Given the description of an element on the screen output the (x, y) to click on. 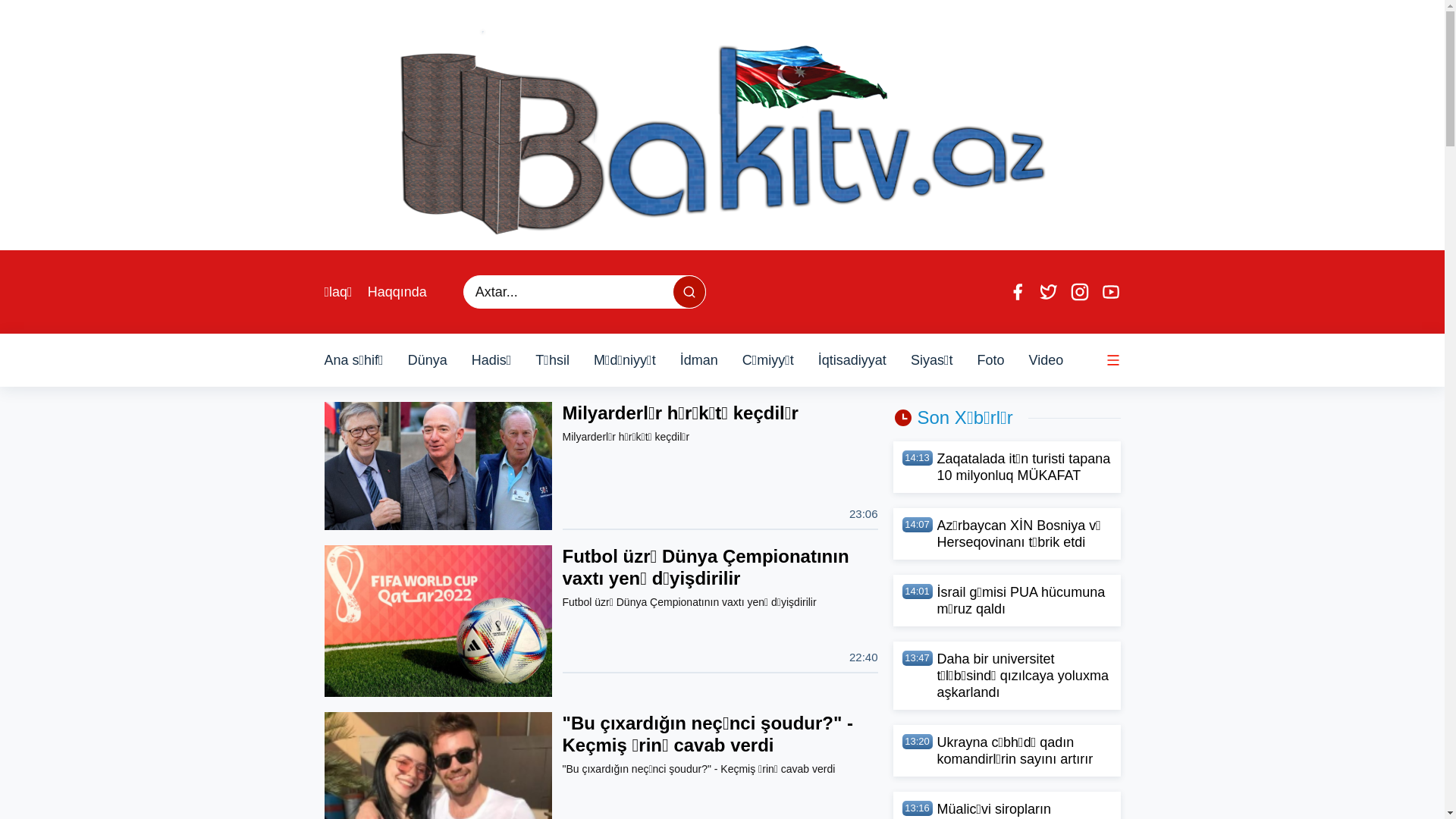
Foto Element type: text (990, 359)
Youtube Element type: hover (1110, 291)
Twitter Element type: hover (1048, 291)
Axtar... Element type: hover (689, 291)
Facebook Element type: hover (1016, 291)
Video Element type: text (1045, 359)
Instagram Element type: hover (1078, 291)
